Given the description of an element on the screen output the (x, y) to click on. 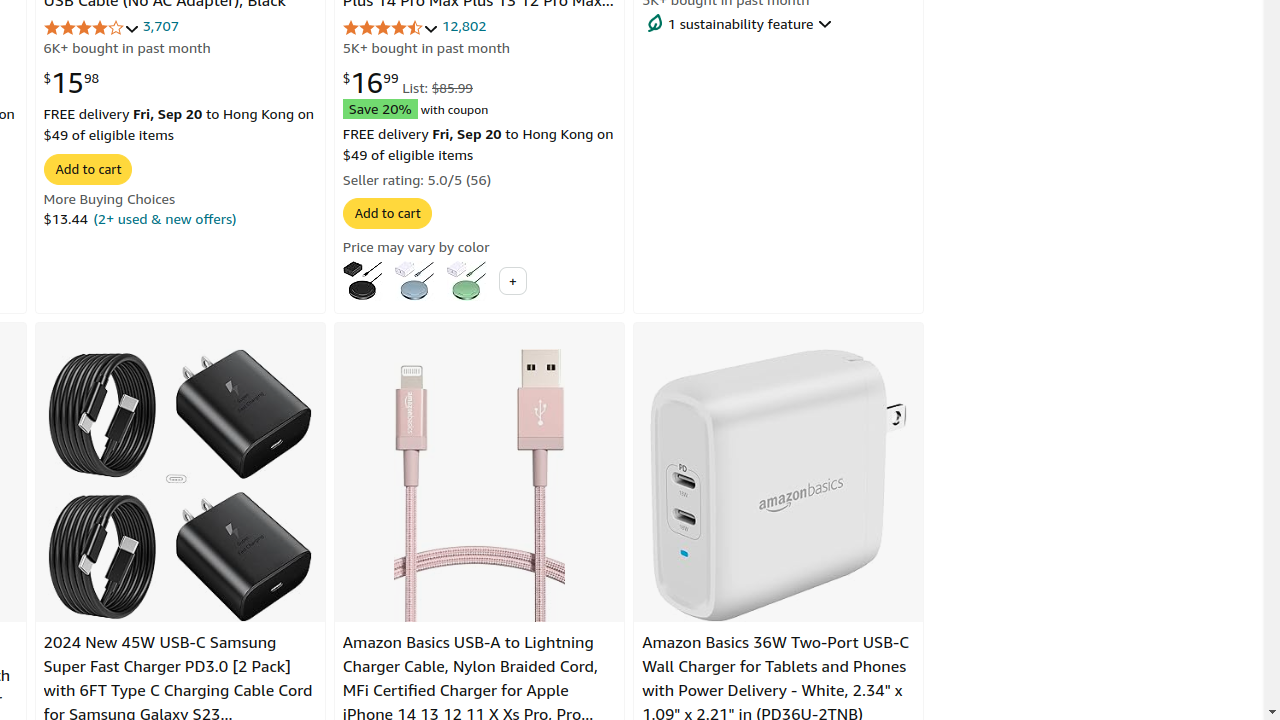
 1 sustainability feature Element type: push-button (779, 23)
2024 New 45W USB-C Samsung Super Fast Charger PD3.0 [2 Pack] with 6FT Type C Charging Cable Cord for Samsung Galaxy S23 Ul... Element type: link (180, 485)
Amazon Basics 36W Two-Port USB-C Wall Charger for Tablets and Phones with Power Delivery - White, 2.34" x 1.09" x 2.21" in... Element type: link (779, 485)
12,802 Element type: link (464, 26)
Blue Element type: link (414, 280)
